Given the description of an element on the screen output the (x, y) to click on. 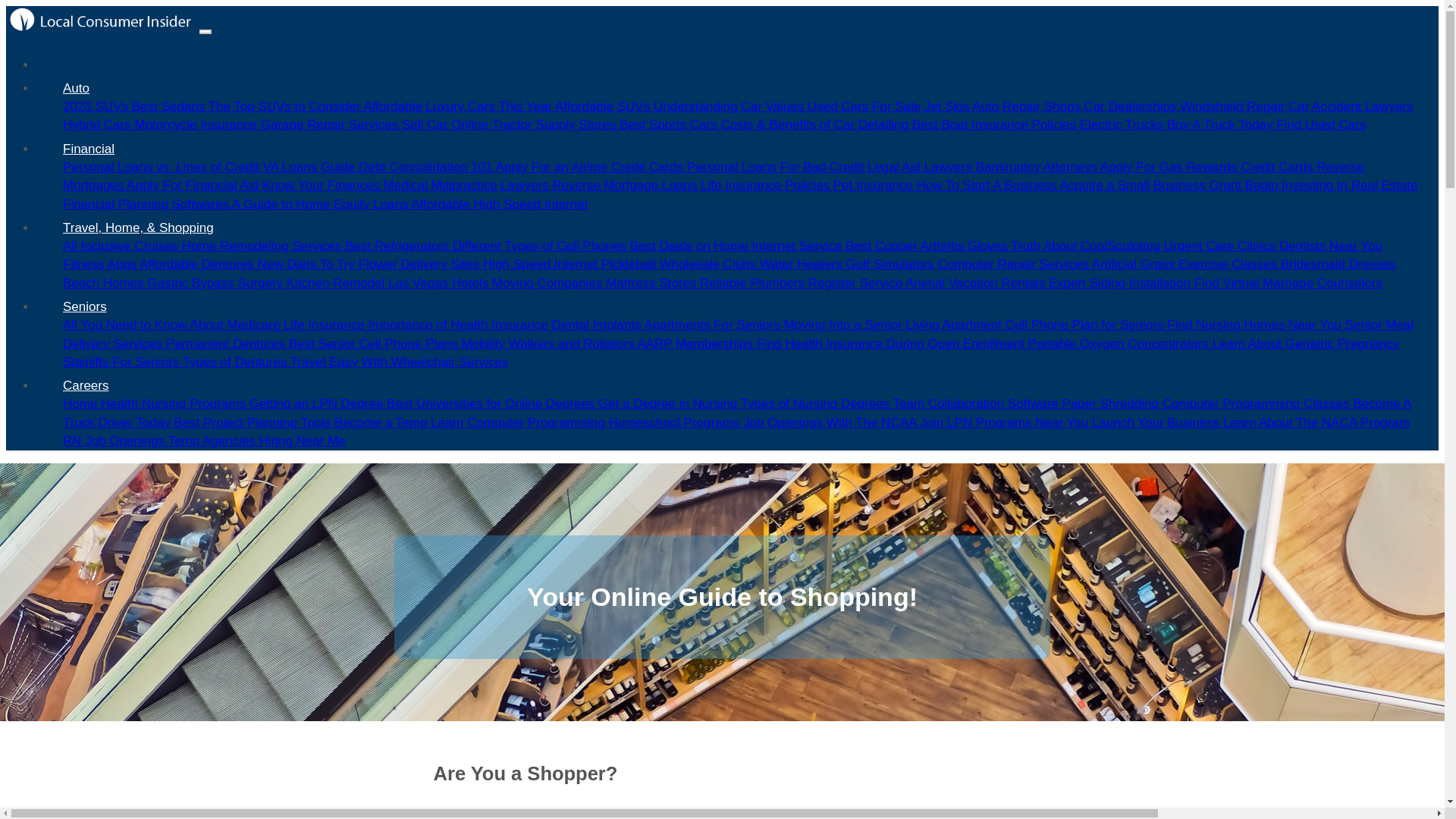
Sell Car Online (446, 124)
Buy A Truck Today (1221, 124)
Used Cars For Sale (866, 106)
Apply For Gas Rewards Credit Cards (1208, 166)
Best Boat Insurance Policies (996, 124)
Reverse Mortgages (713, 175)
Garage Repair Services (330, 124)
Hybrid Cars (97, 124)
Auto Repair Shops (1027, 106)
Best Sports Cars (670, 124)
VA Loans Guide (310, 166)
2023 SUVs (97, 106)
Bankruptcy Attorneys (1037, 166)
Jet Skis (948, 106)
Find Used Cars (1320, 124)
